Given the description of an element on the screen output the (x, y) to click on. 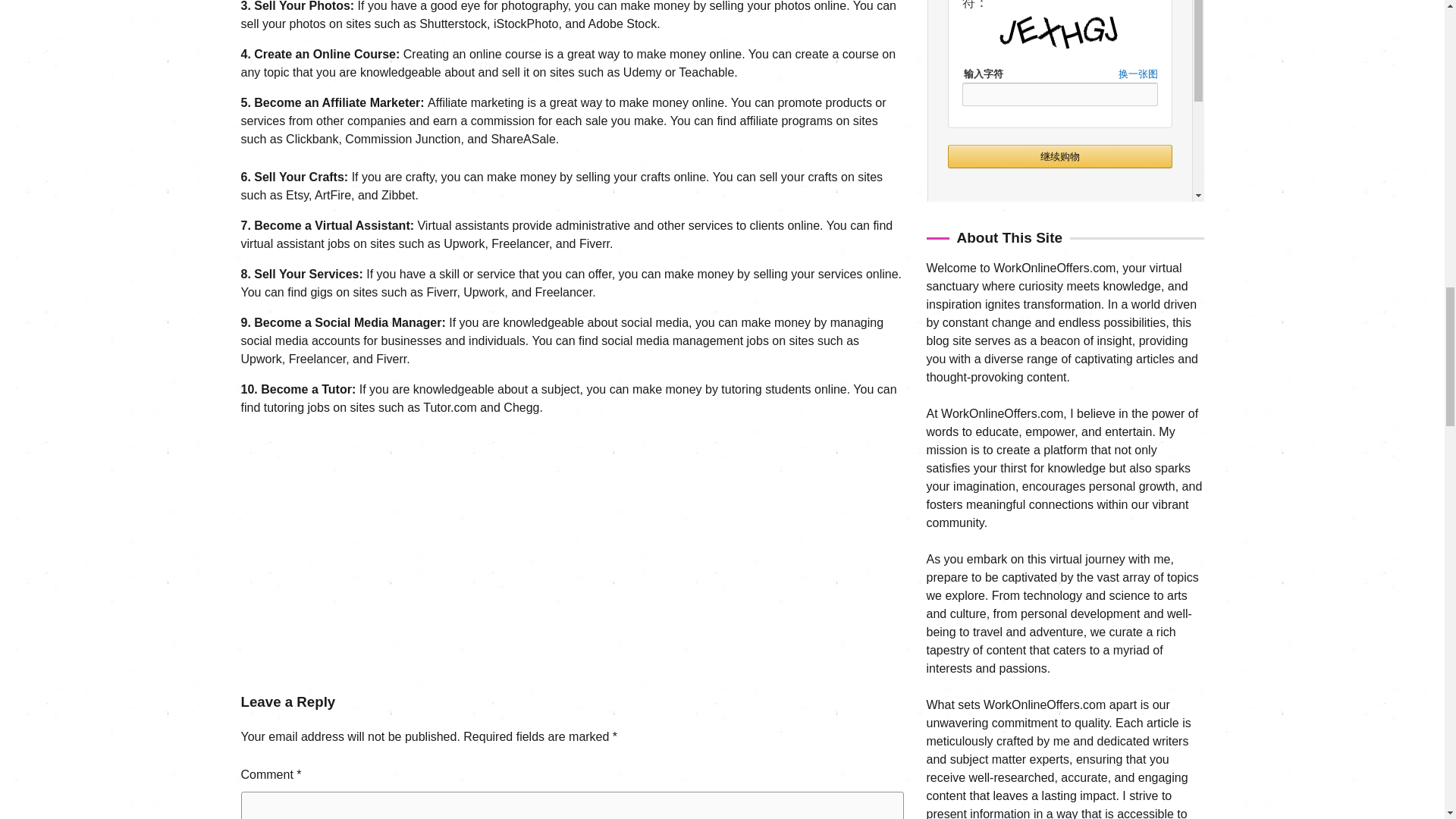
YouTube video player (453, 544)
Marketing Tools (963, 615)
Health (942, 532)
Retirement (952, 671)
How to Make Money (975, 588)
Mindset (944, 643)
Environment (956, 505)
Home (940, 560)
